Given the description of an element on the screen output the (x, y) to click on. 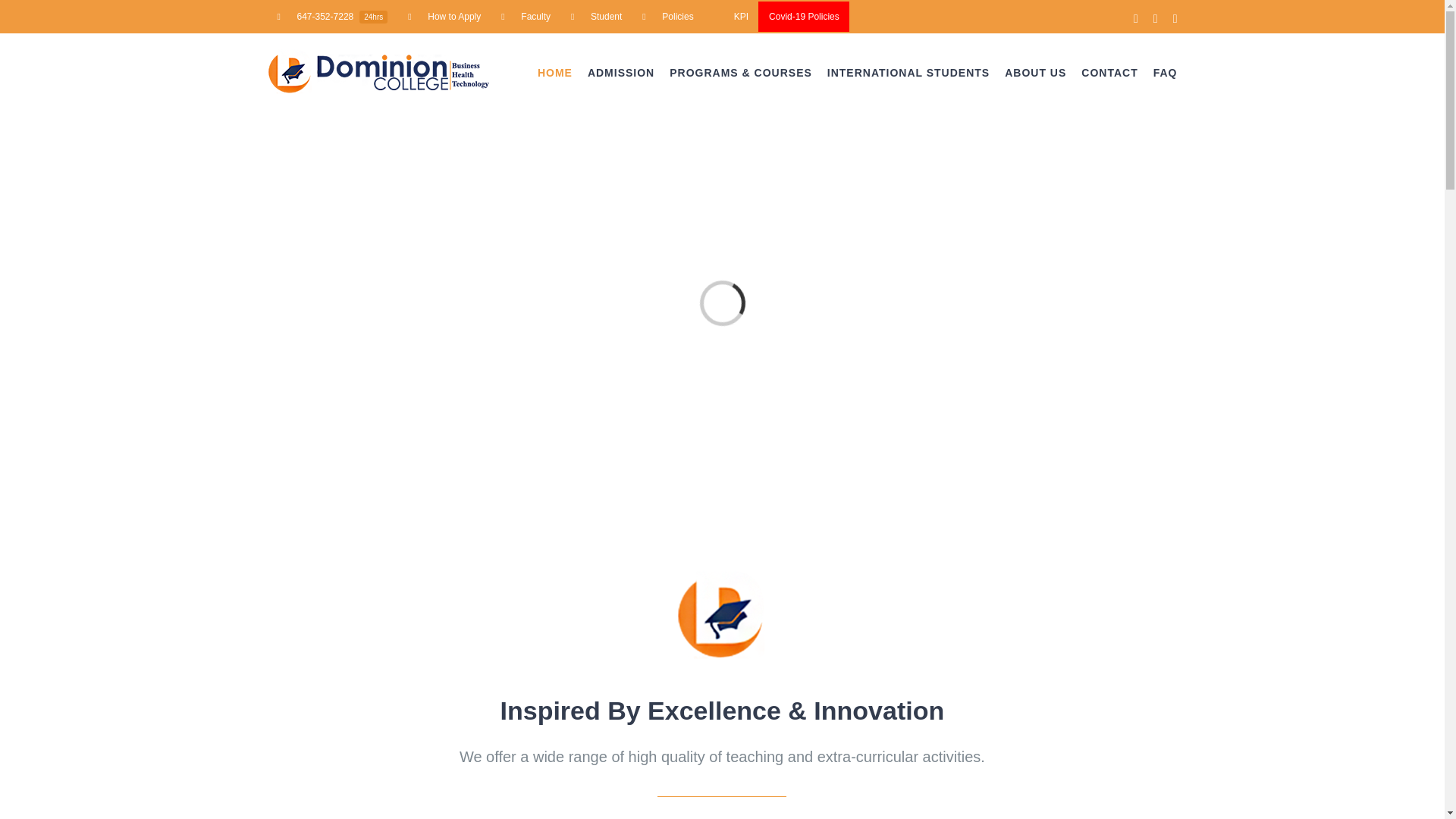
Student (595, 16)
KPI (731, 16)
How to Apply (443, 16)
favicon-large (722, 614)
Covid-19 Policies (803, 16)
647-352-722824hrs (331, 16)
Policies (667, 16)
Faculty (526, 16)
INTERNATIONAL STUDENTS (908, 73)
